Given the description of an element on the screen output the (x, y) to click on. 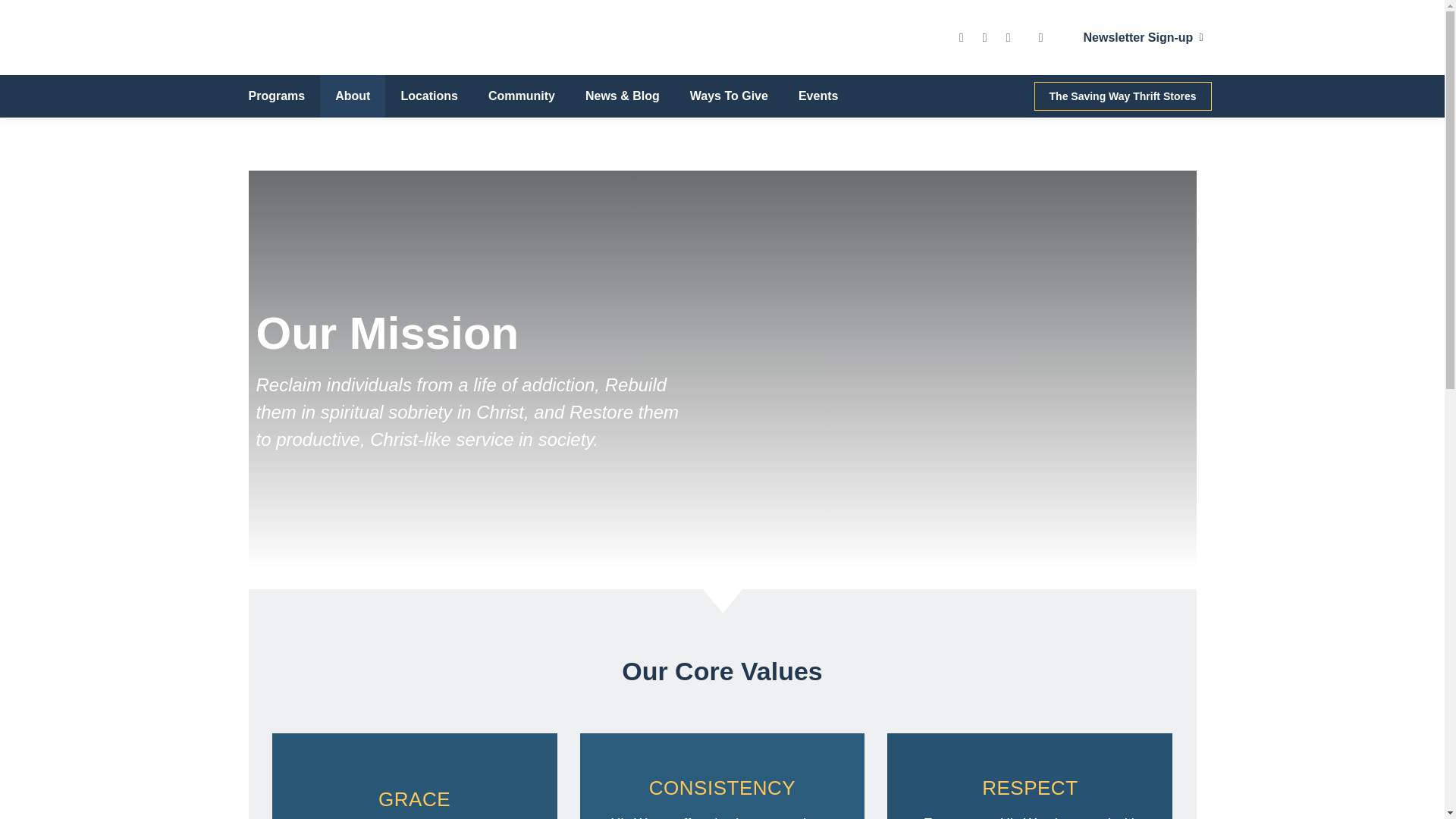
Programs (276, 96)
Locations (429, 96)
Facebook page opens in new window (961, 36)
X page opens in new window (984, 36)
Community (521, 96)
Facebook page opens in new window (961, 36)
YouTube page opens in new window (1007, 36)
X page opens in new window (984, 36)
YouTube page opens in new window (1007, 36)
Newsletter Sign-up (1139, 37)
